Given the description of an element on the screen output the (x, y) to click on. 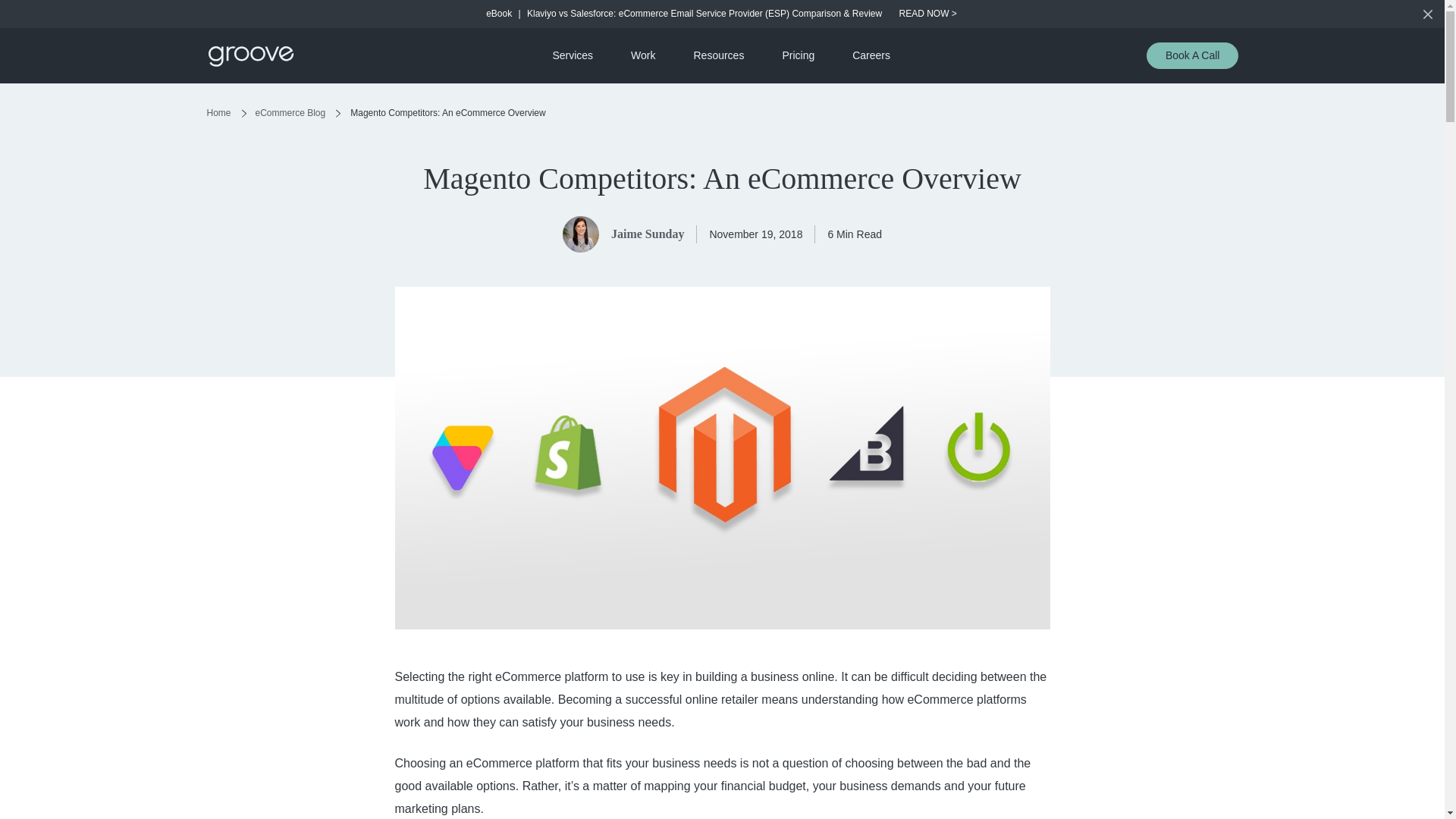
Book a Call (1193, 54)
Services (572, 55)
Resources (717, 55)
Work (643, 55)
Pricing (797, 55)
